Given the description of an element on the screen output the (x, y) to click on. 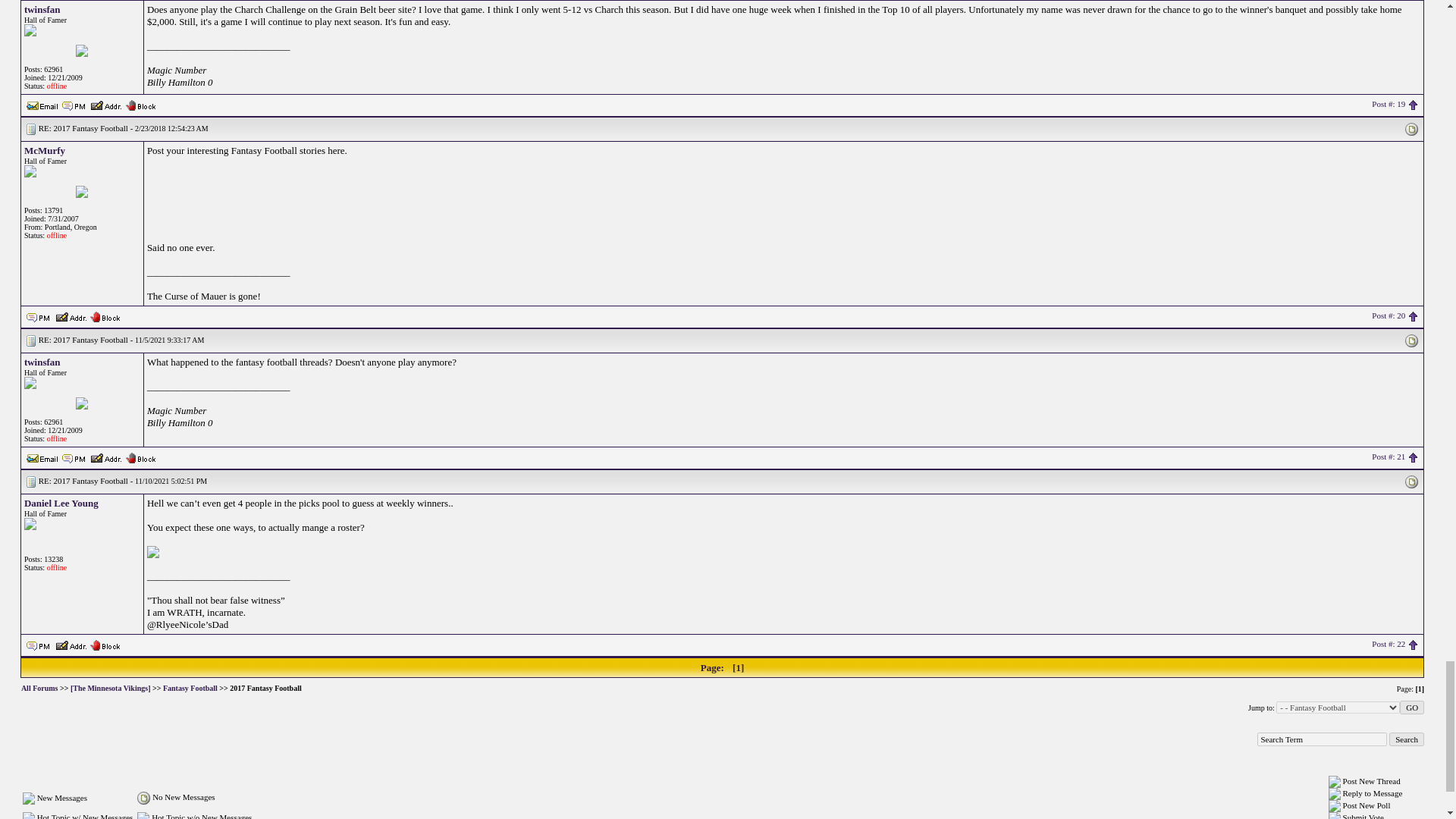
Search (1406, 739)
GO (1411, 707)
Search Term (1322, 739)
